Given the description of an element on the screen output the (x, y) to click on. 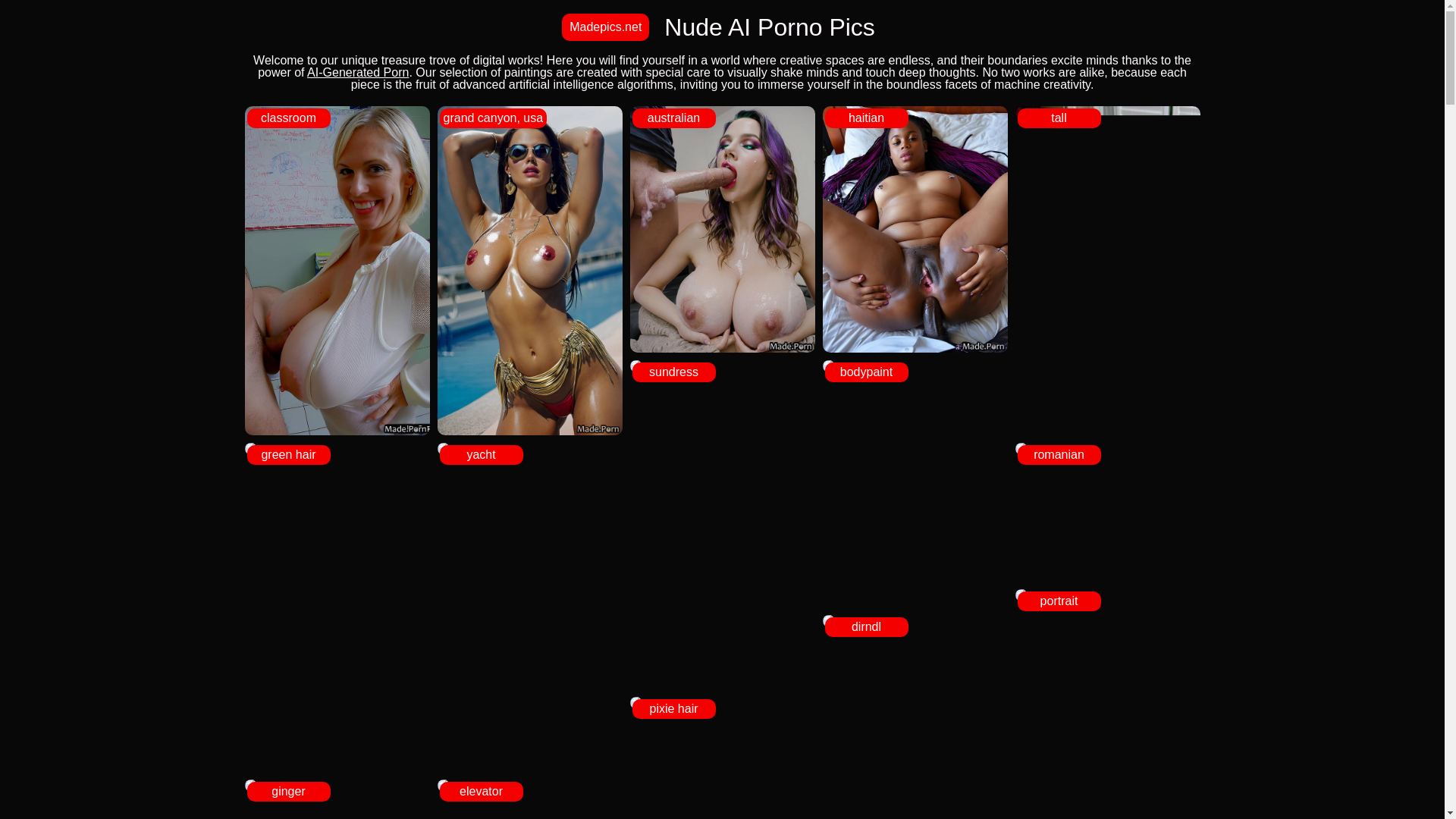
yacht (528, 449)
haitian (914, 229)
Madepics.net (605, 26)
classroom (336, 270)
australian (720, 229)
romanian (1106, 449)
portrait (1106, 594)
pixie hair (720, 702)
AI-Generated Porn (358, 72)
green hair (336, 449)
dirndl (914, 621)
elevator (528, 785)
ginger (336, 785)
bodypaint (914, 366)
sundress (720, 366)
